Given the description of an element on the screen output the (x, y) to click on. 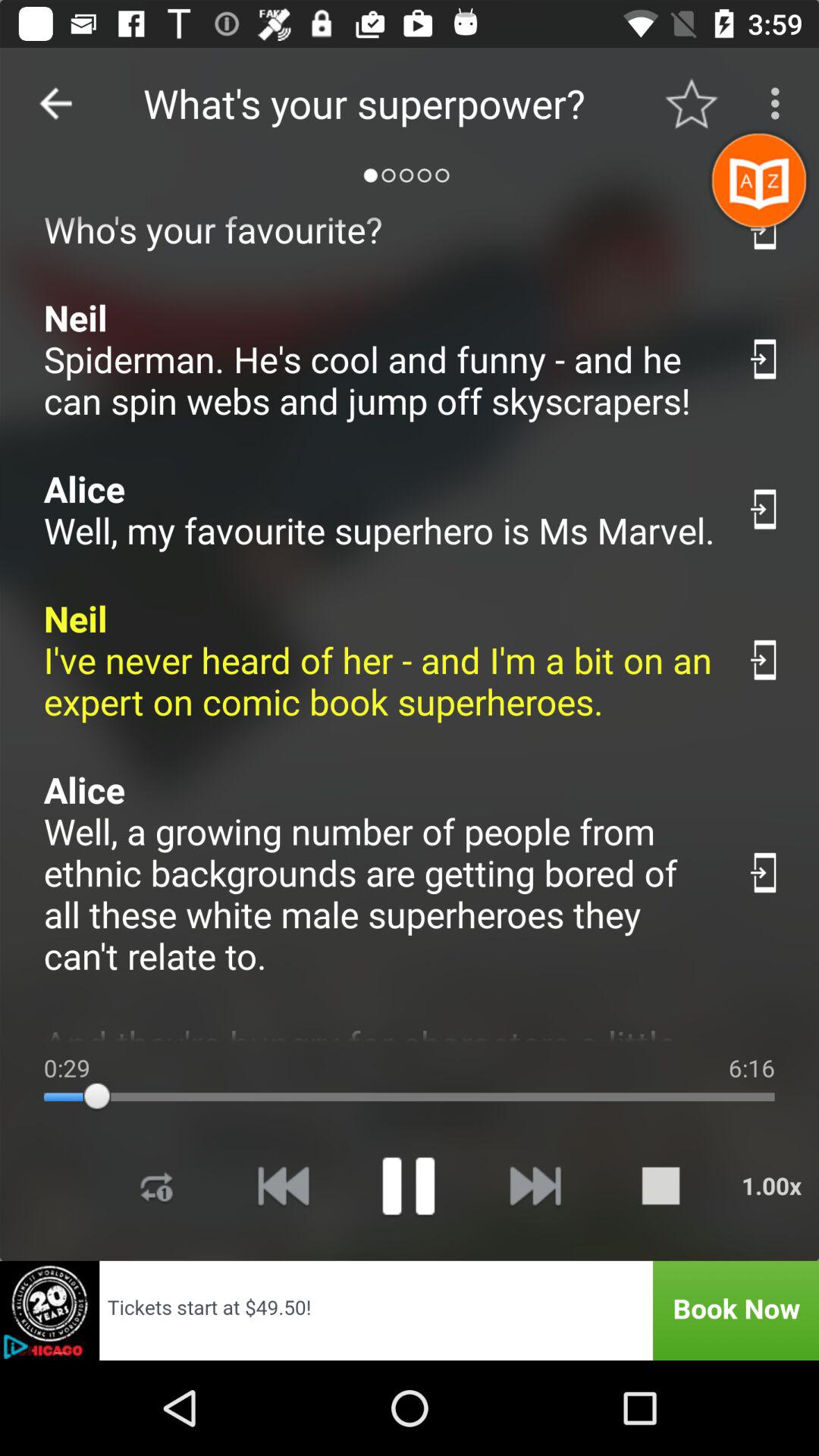
share the article (765, 872)
